Given the description of an element on the screen output the (x, y) to click on. 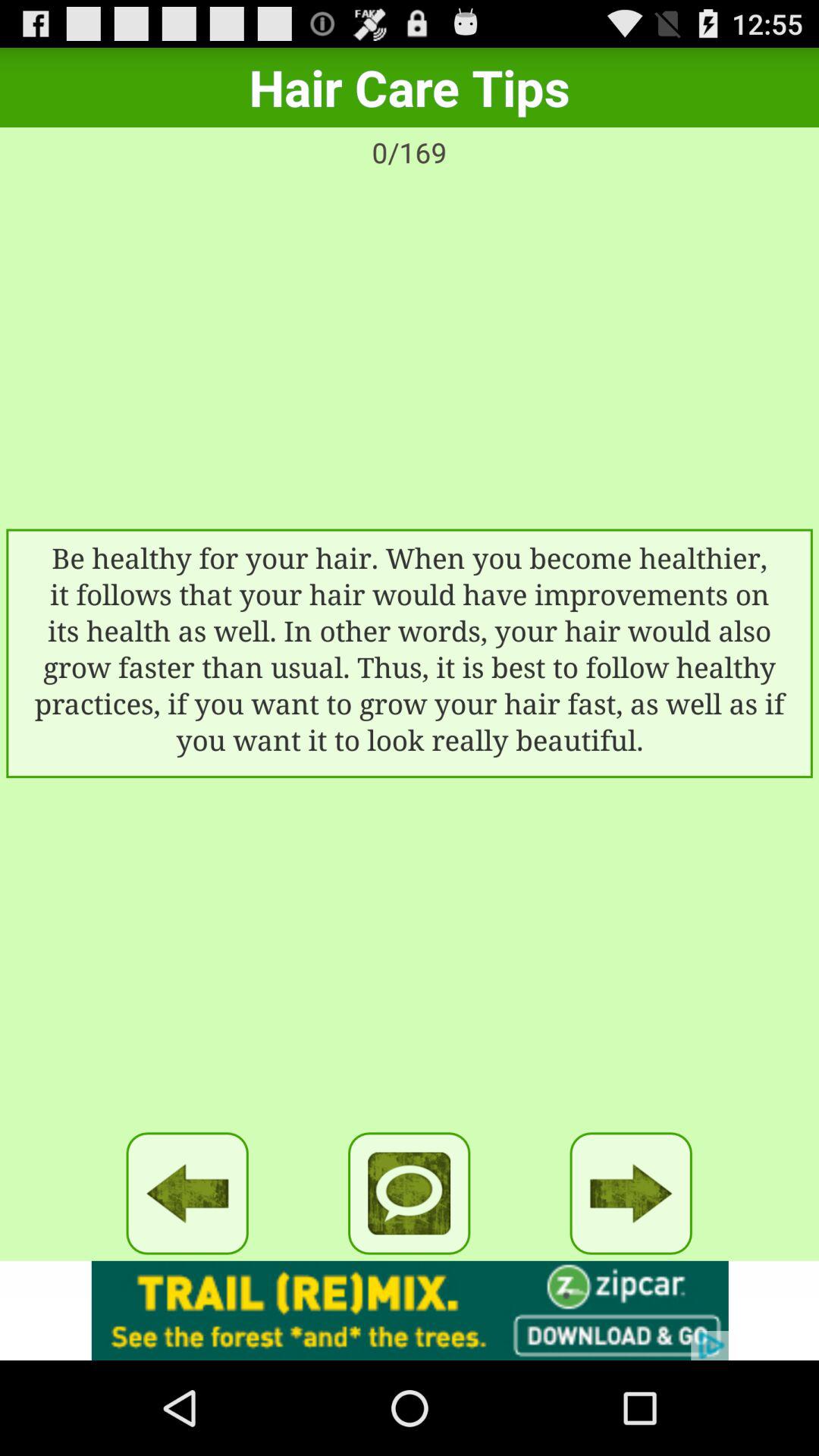
back page button (187, 1193)
